Given the description of an element on the screen output the (x, y) to click on. 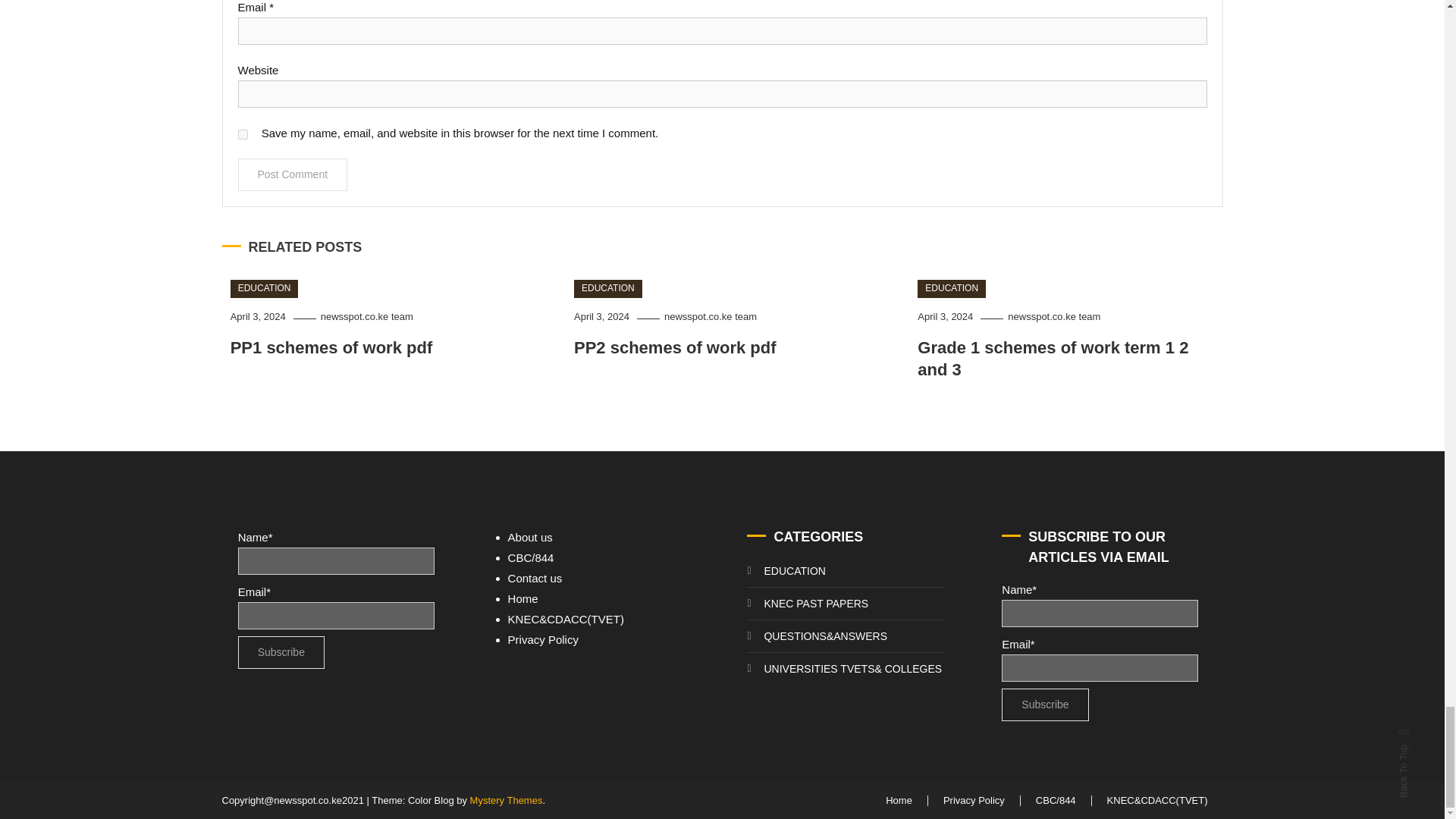
Subscribe (1044, 704)
yes (242, 134)
Subscribe (281, 652)
Post Comment (292, 174)
